Given the description of an element on the screen output the (x, y) to click on. 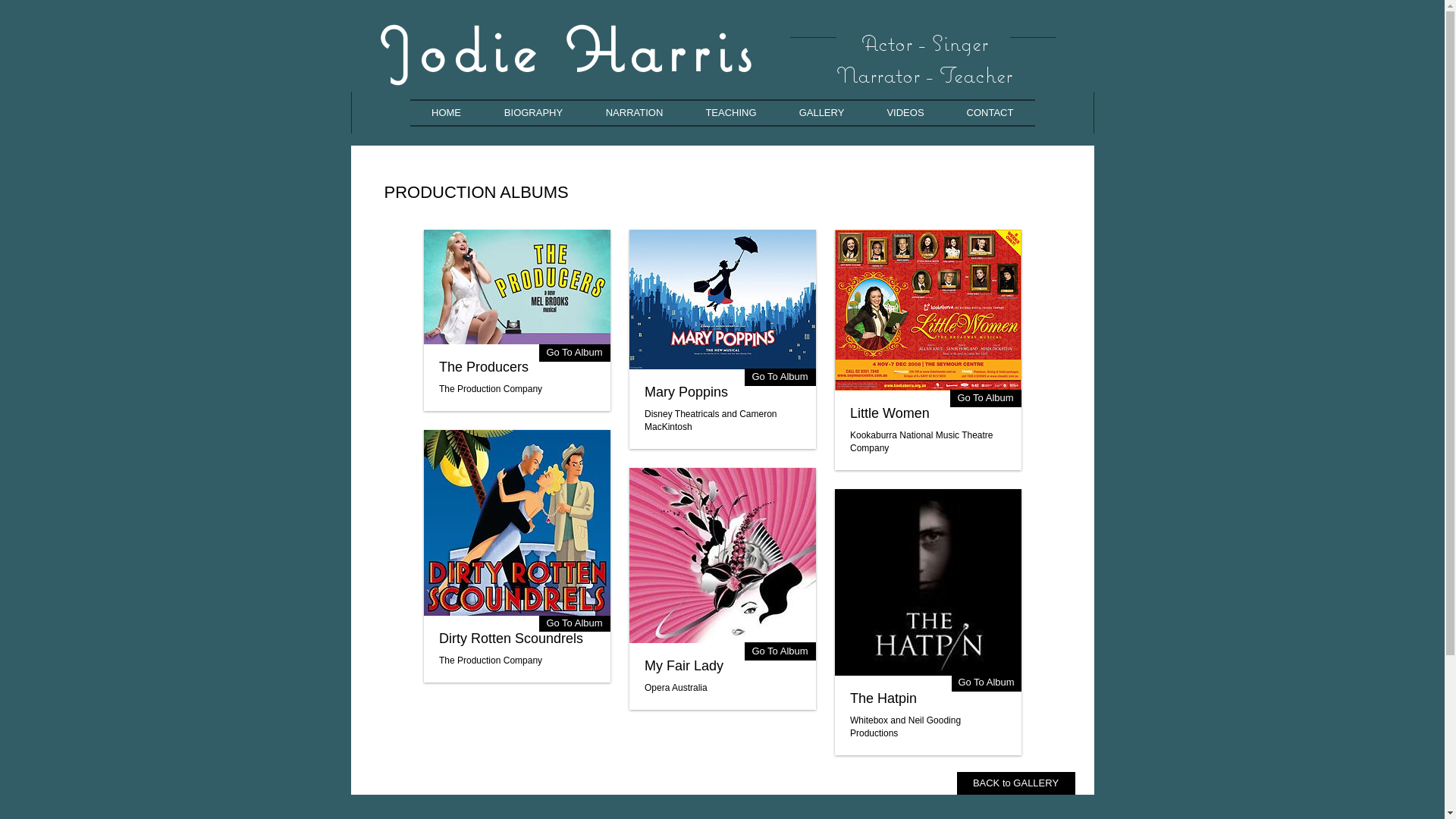
Go To Album Element type: text (779, 376)
Go To Album Element type: text (779, 651)
VIDEOS Element type: text (905, 112)
CONTACT Element type: text (989, 112)
GALLERY Element type: text (822, 112)
BIOGRAPHY Element type: text (532, 112)
Go To Album Element type: text (573, 623)
Go To Album Element type: text (984, 398)
BACK to GALLERY Element type: text (1016, 782)
NARRATION Element type: text (633, 112)
Go To Album Element type: text (985, 682)
TEACHING Element type: text (730, 112)
Go To Album Element type: text (573, 352)
HOME Element type: text (445, 112)
